Given the description of an element on the screen output the (x, y) to click on. 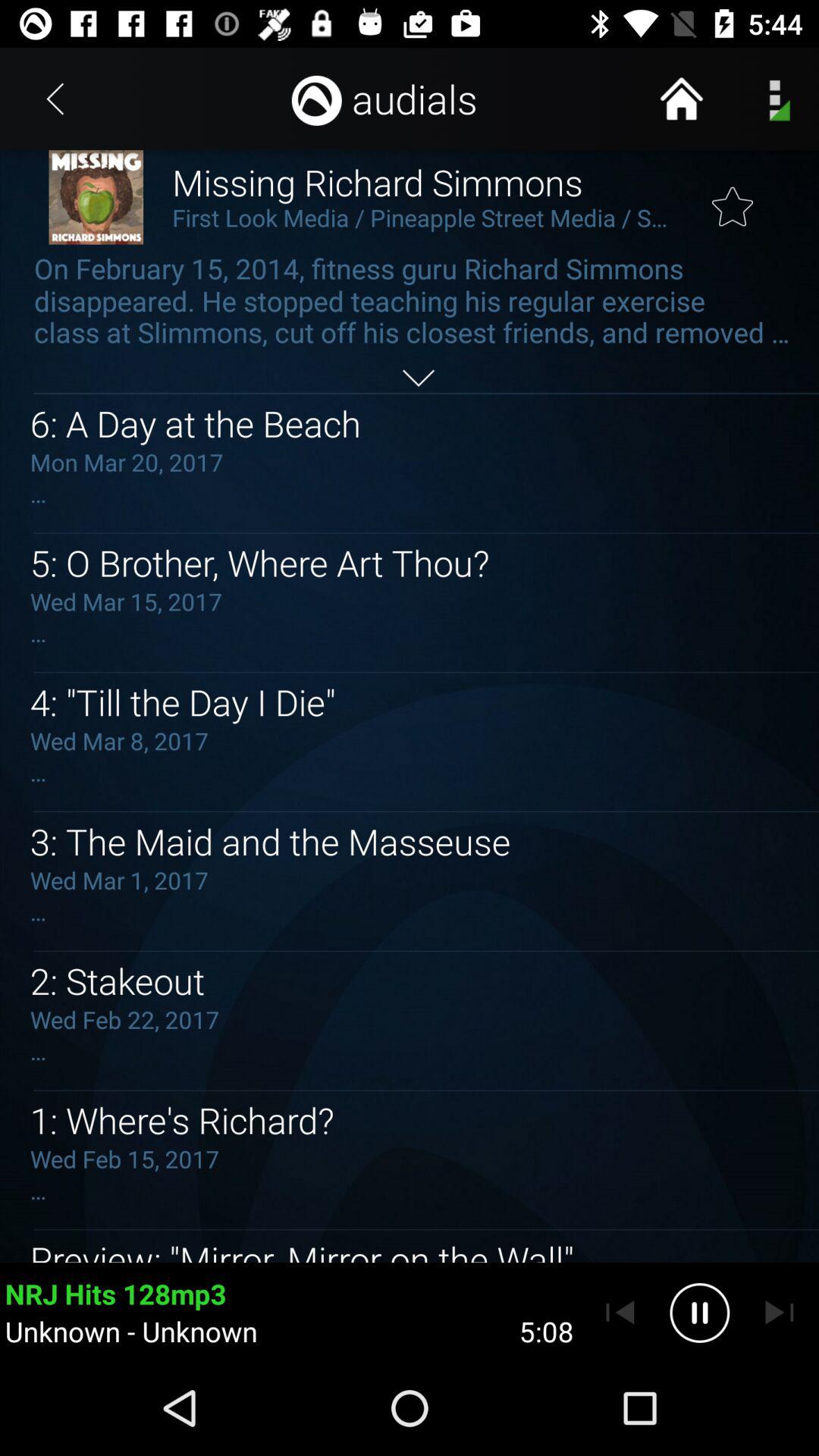
go to homepage (681, 98)
